Given the description of an element on the screen output the (x, y) to click on. 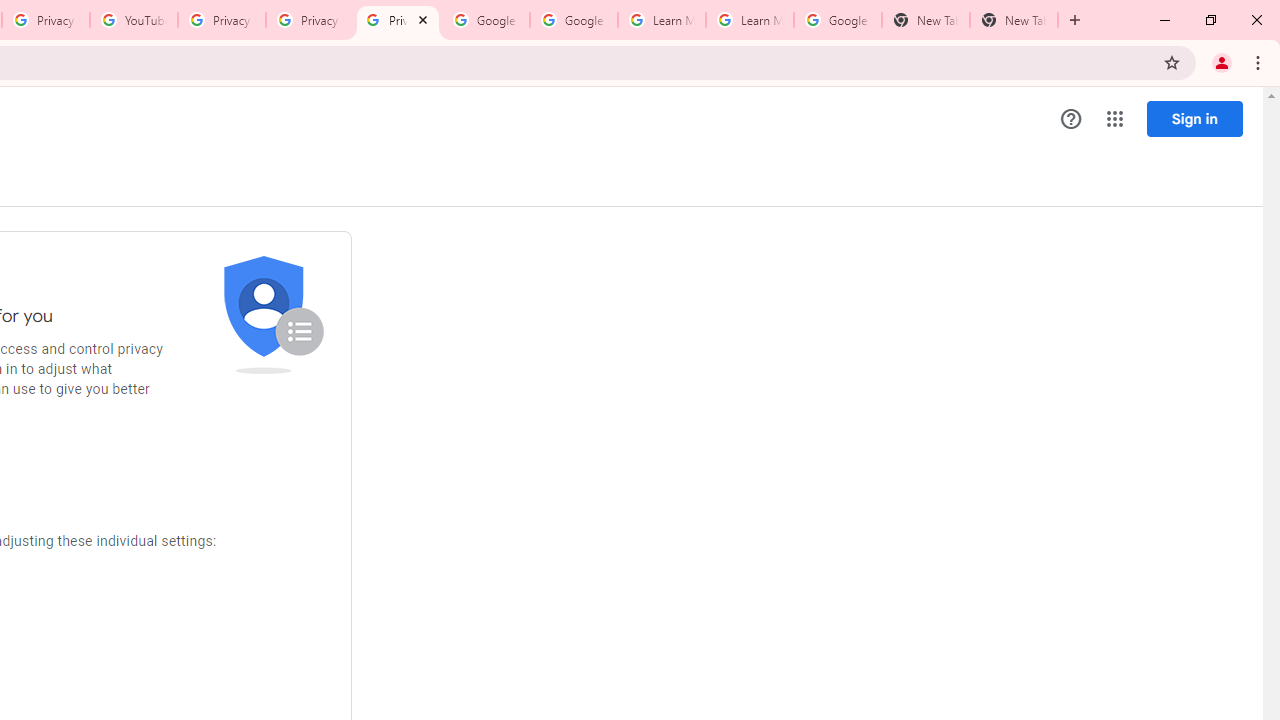
Privacy Checkup (397, 20)
YouTube (133, 20)
